Given the description of an element on the screen output the (x, y) to click on. 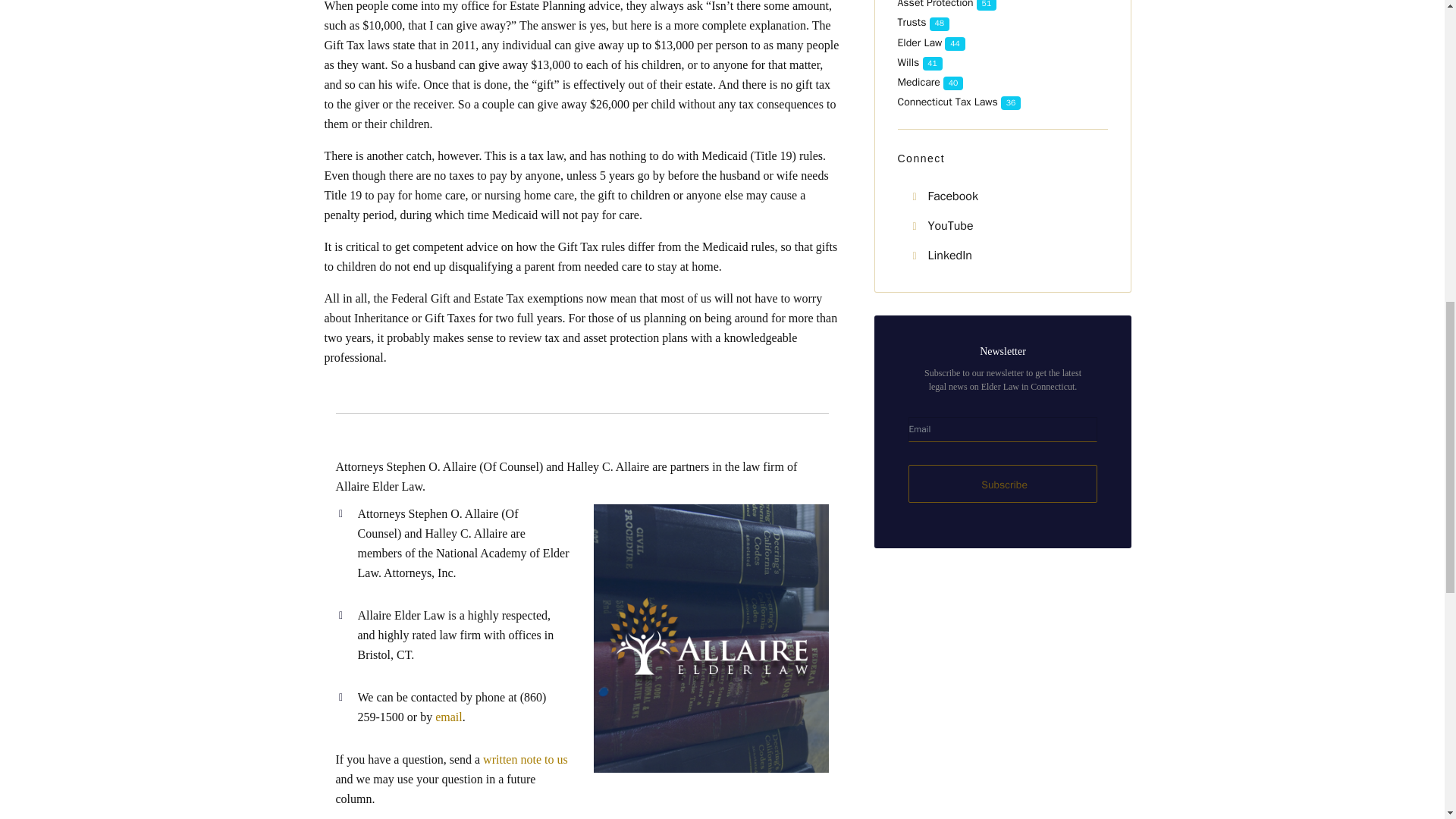
email (449, 716)
